Given the description of an element on the screen output the (x, y) to click on. 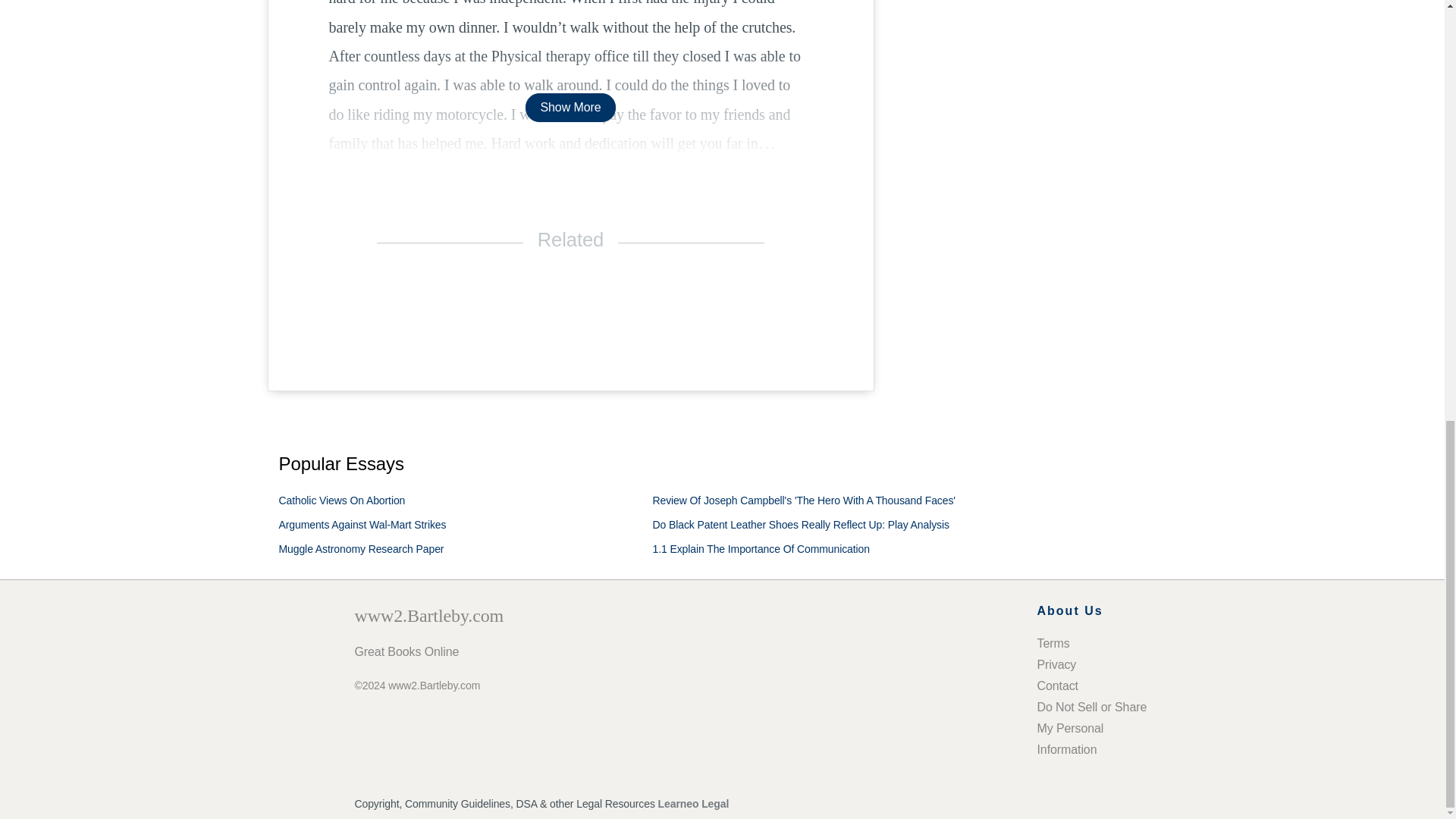
Review Of Joseph Campbell's 'The Hero With A Thousand Faces' (803, 500)
1.1 Explain The Importance Of Communication (760, 548)
Muggle Astronomy Research Paper (361, 548)
Learneo Legal (693, 803)
Show More (569, 107)
Muggle Astronomy Research Paper (361, 548)
Arguments Against Wal-Mart Strikes (362, 524)
Privacy (1056, 664)
Arguments Against Wal-Mart Strikes (362, 524)
Catholic Views On Abortion (342, 500)
Catholic Views On Abortion (342, 500)
Review Of Joseph Campbell's 'The Hero With A Thousand Faces' (803, 500)
Terms (1053, 643)
1.1 Explain The Importance Of Communication (760, 548)
Contact (1057, 685)
